Given the description of an element on the screen output the (x, y) to click on. 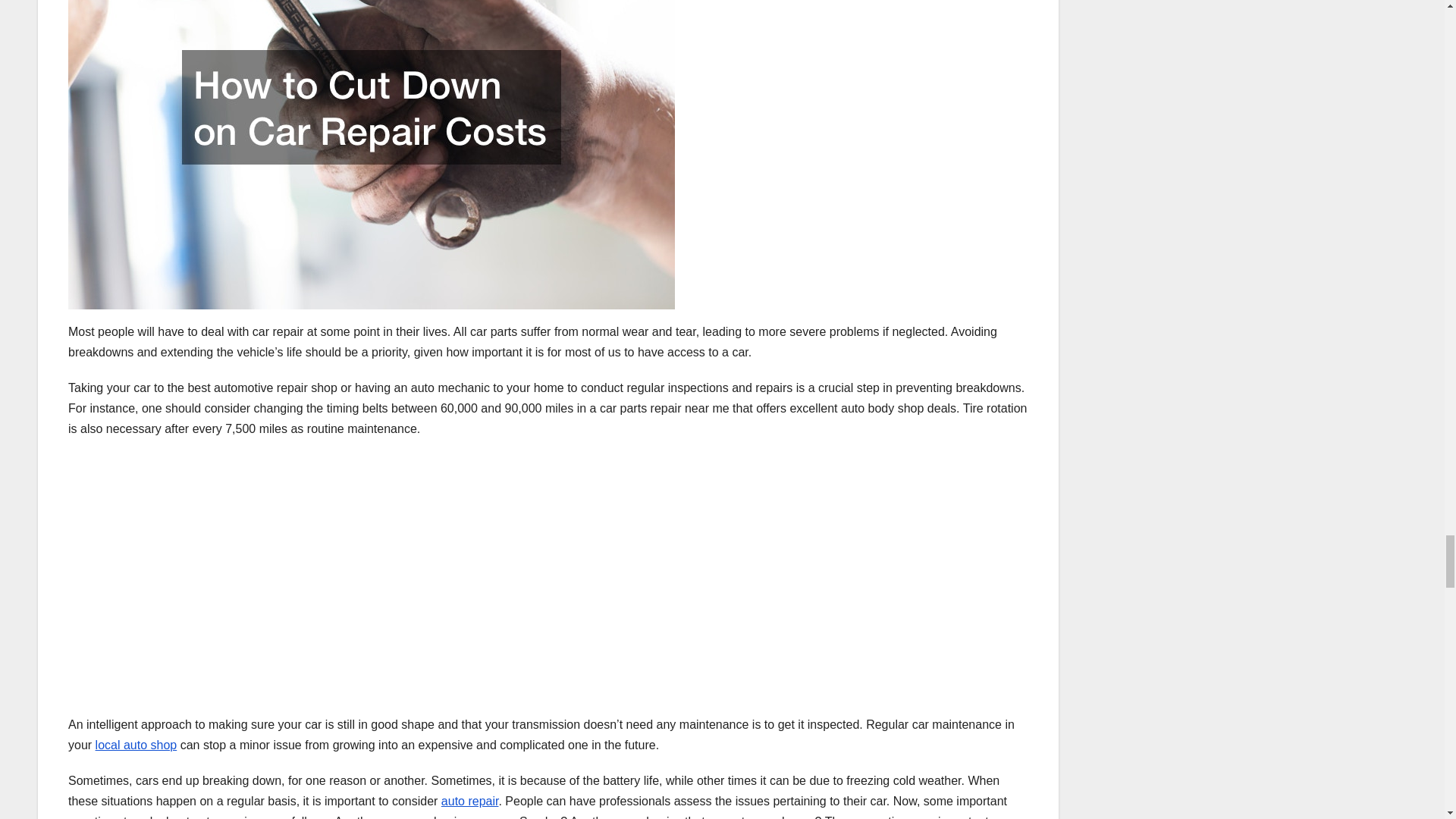
YouTube video player (280, 573)
auto repair (470, 800)
local auto shop (136, 744)
